Given the description of an element on the screen output the (x, y) to click on. 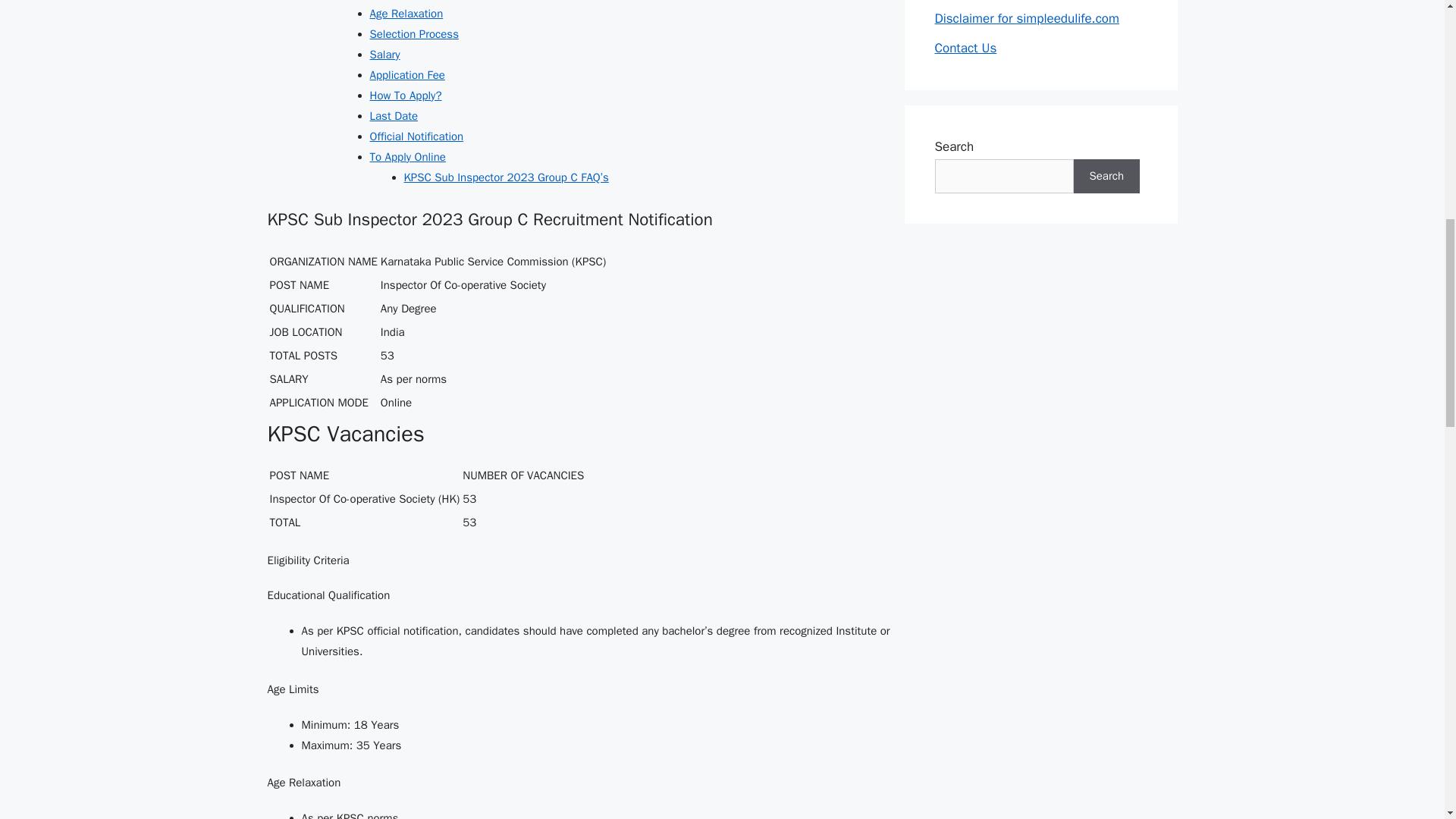
Last Date (394, 115)
Age Relaxation (406, 13)
How To Apply? (405, 95)
Application Fee (407, 74)
Salary (384, 54)
Age Relaxation (406, 13)
Application Fee (407, 74)
Salary (384, 54)
Last Date (394, 115)
Official Notification (416, 136)
